Given the description of an element on the screen output the (x, y) to click on. 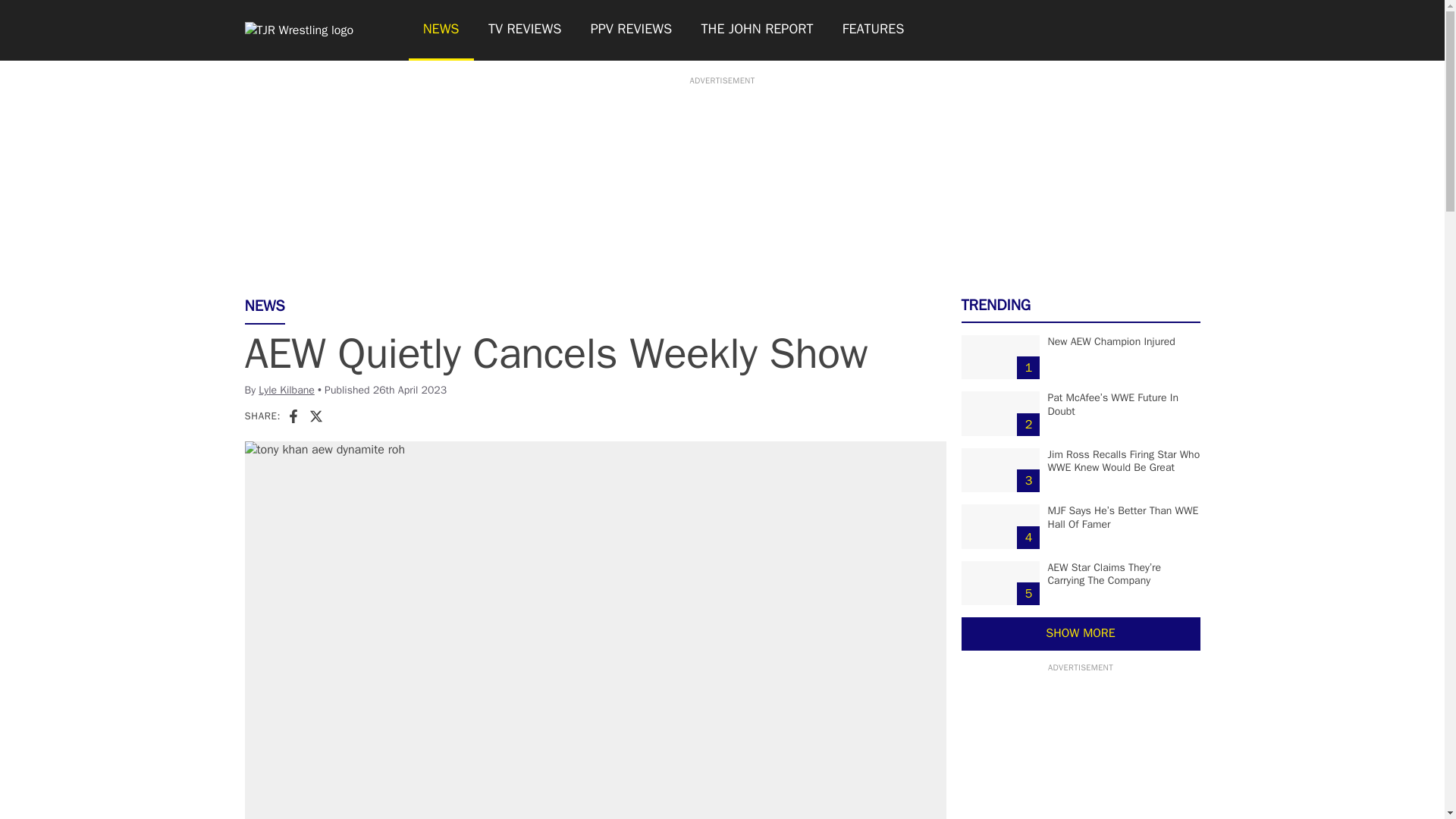
Lyle Kilbane (286, 390)
Facebook (292, 415)
FEATURES (873, 30)
Facebook (292, 416)
THE JOHN REPORT (756, 30)
X (315, 415)
NEWS (440, 30)
X (315, 416)
TV REVIEWS (525, 30)
PPV REVIEWS (631, 30)
